Given the description of an element on the screen output the (x, y) to click on. 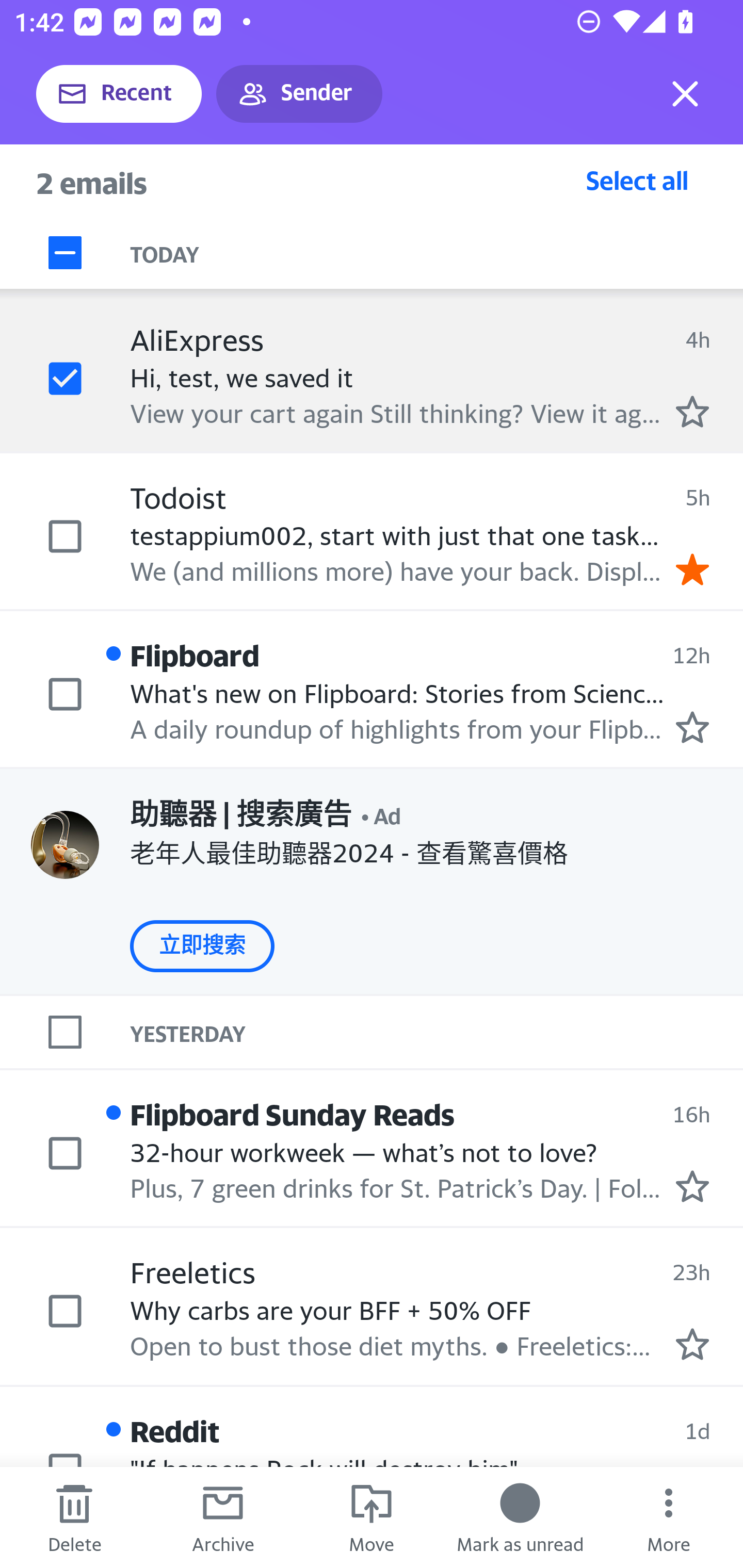
Sender (299, 93)
Exit selection mode (684, 93)
Select all (637, 180)
Mark as starred. (692, 411)
Remove star. (692, 569)
Mark as starred. (692, 726)
YESTERDAY (436, 1032)
Mark as starred. (692, 1186)
Mark as starred. (692, 1344)
Delete (74, 1517)
Archive (222, 1517)
Move (371, 1517)
Mark as unread (519, 1517)
More (668, 1517)
